Given the description of an element on the screen output the (x, y) to click on. 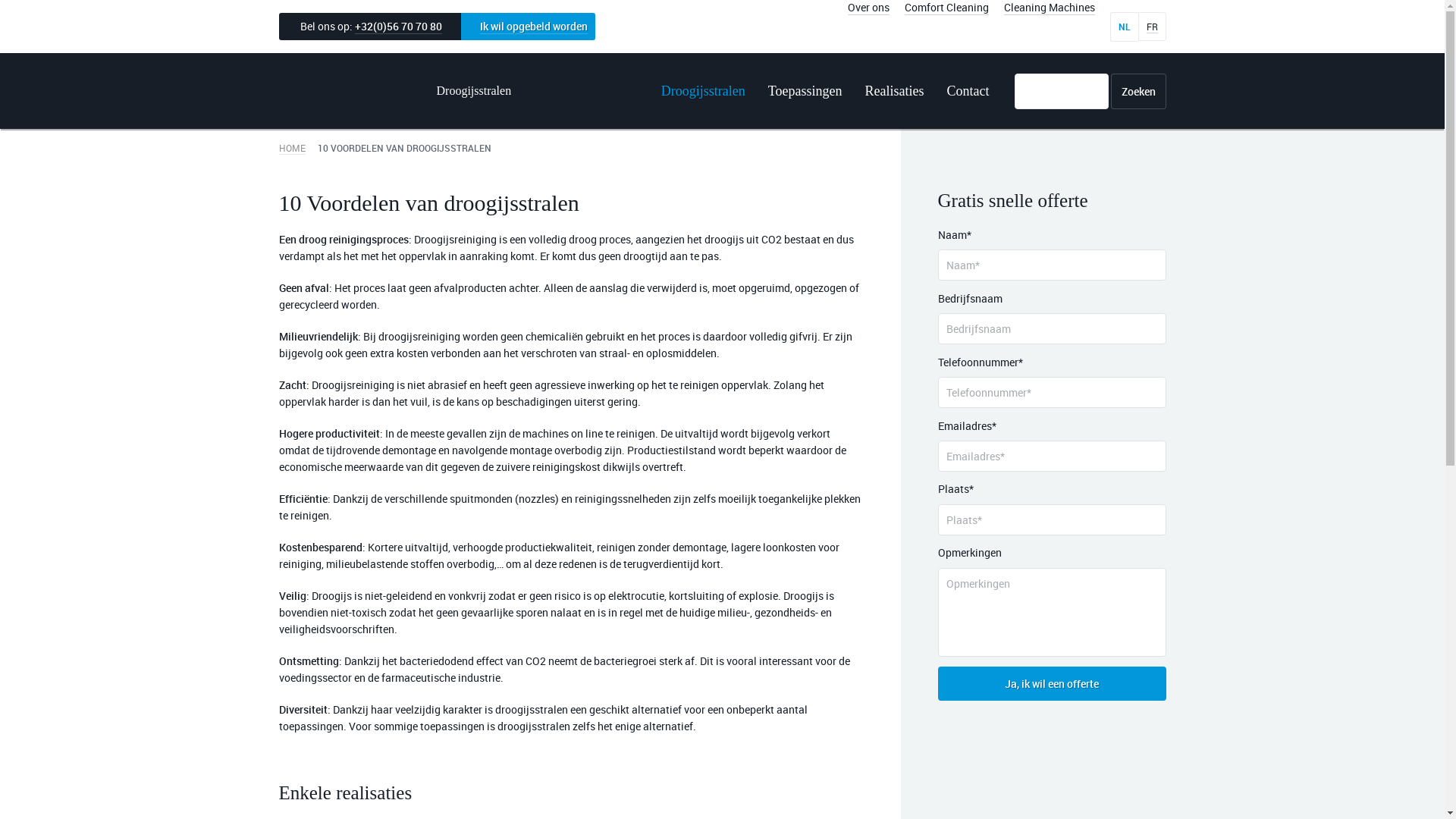
Cleaning Machines Element type: text (1049, 7)
Naam* Element type: hover (1051, 264)
Ja, ik wil een offerte Element type: text (1051, 683)
Toepassingen Element type: text (804, 90)
Emailadres* Element type: hover (1051, 455)
Comfort ICE Cleaning
Droogijsstralen Element type: text (399, 90)
Realisaties Element type: text (894, 90)
Bedrijfsnaam Element type: hover (1051, 328)
Telefoonnummer* Element type: hover (1051, 391)
HOME Element type: text (292, 147)
Droogijsstralen Element type: text (702, 90)
  Ik wil opgebeld worden Element type: text (528, 26)
Over ons Element type: text (868, 7)
Zoeken Element type: text (1137, 90)
Contact Element type: text (962, 90)
FR Element type: text (1151, 26)
Bel ons op: +32(0)56 70 70 80 Element type: text (370, 26)
Plaats* Element type: hover (1051, 519)
Comfort Cleaning Element type: text (945, 7)
Opmerkingen Element type: hover (1051, 611)
